Given the description of an element on the screen output the (x, y) to click on. 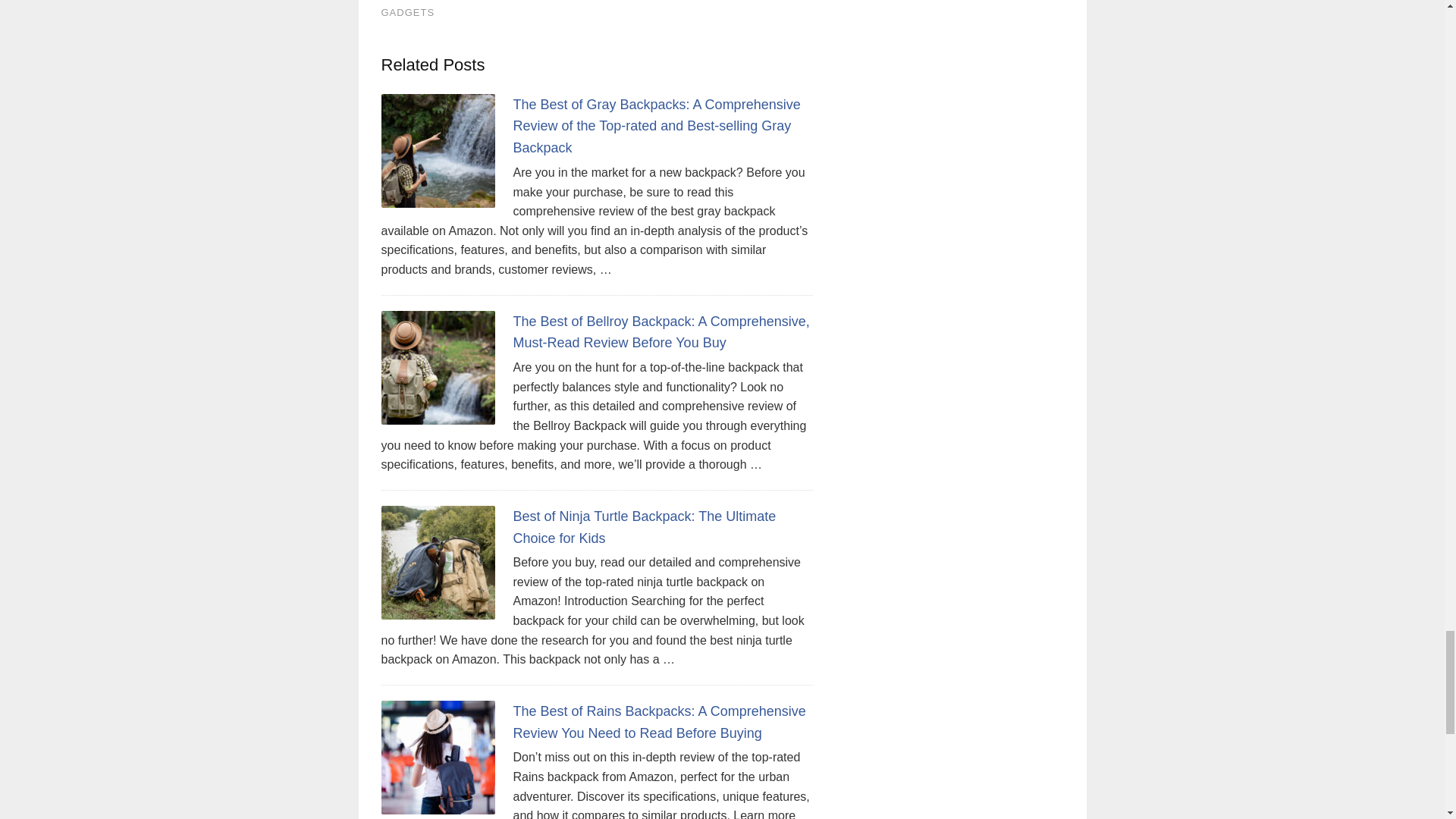
Best of Ninja Turtle Backpack: The Ultimate Choice for Kids (644, 527)
